Given the description of an element on the screen output the (x, y) to click on. 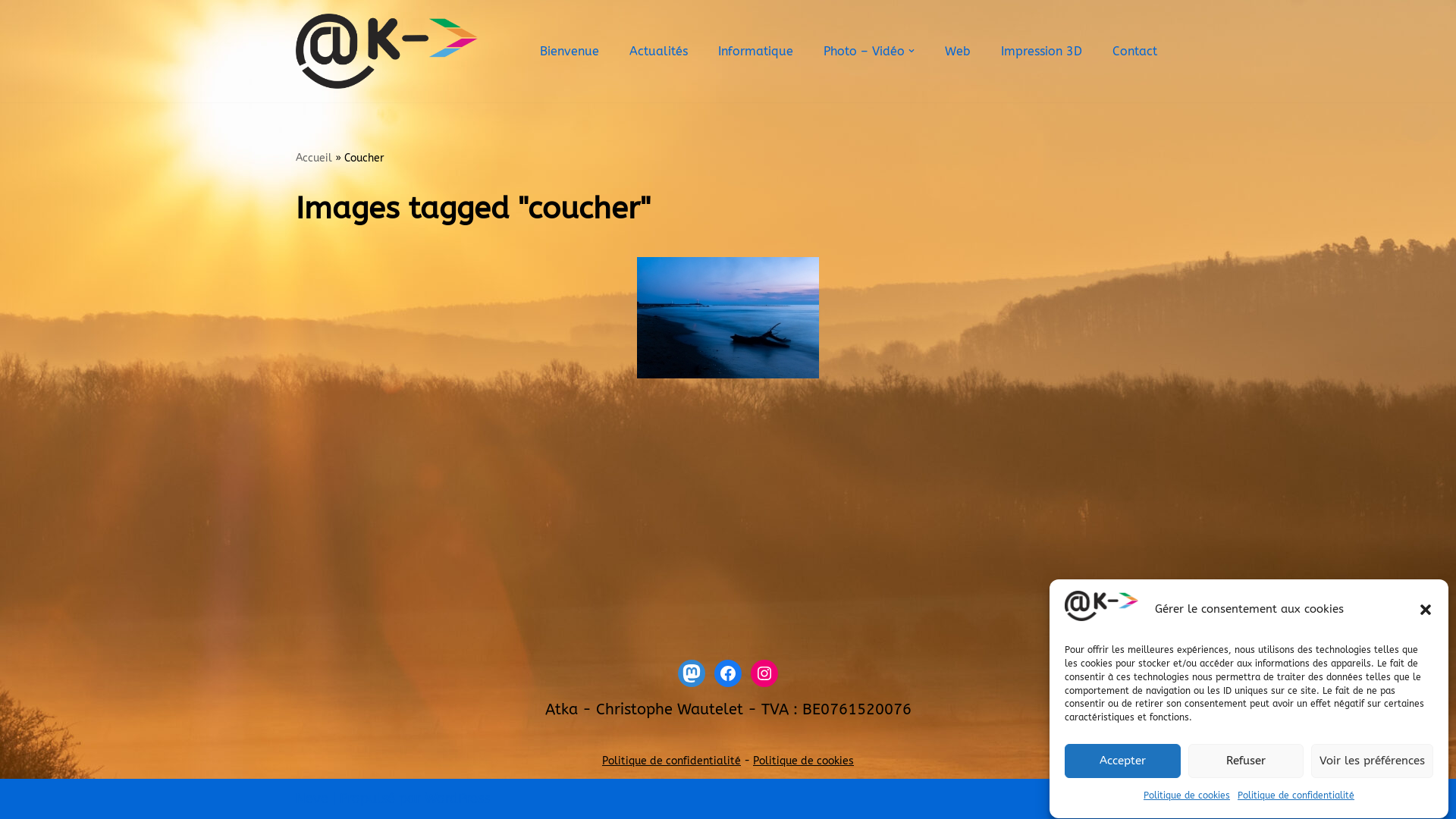
WordPress Element type: text (456, 798)
Contact Element type: text (1134, 50)
Impression 3D Element type: text (1041, 50)
Accepter Element type: text (1122, 760)
Bienvenue Element type: text (569, 50)
Politique de cookies Element type: text (1186, 796)
DSCF9723 Element type: hover (728, 317)
Neve Element type: text (311, 798)
Web Element type: text (957, 50)
Politique de cookies Element type: text (803, 760)
Informatique Element type: text (755, 50)
Accueil Element type: text (313, 157)
Refuser Element type: text (1245, 760)
Aller au contenu Element type: text (11, 31)
